Given the description of an element on the screen output the (x, y) to click on. 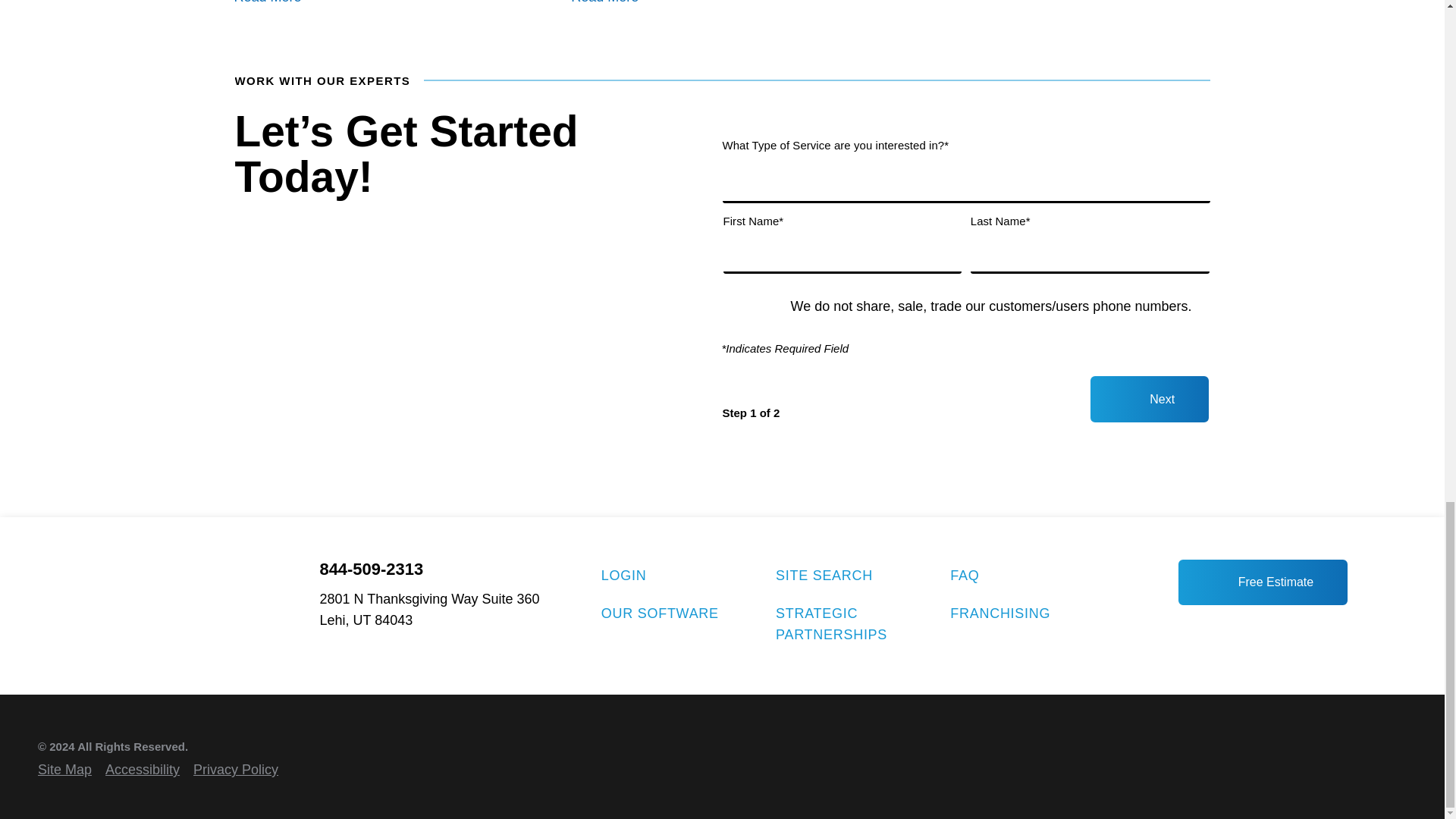
YouTube (1238, 627)
Twitter (1288, 627)
Instagram (1263, 627)
Click here to continue to the filling out this form. (1149, 399)
LinkedIn (1212, 627)
